Given the description of an element on the screen output the (x, y) to click on. 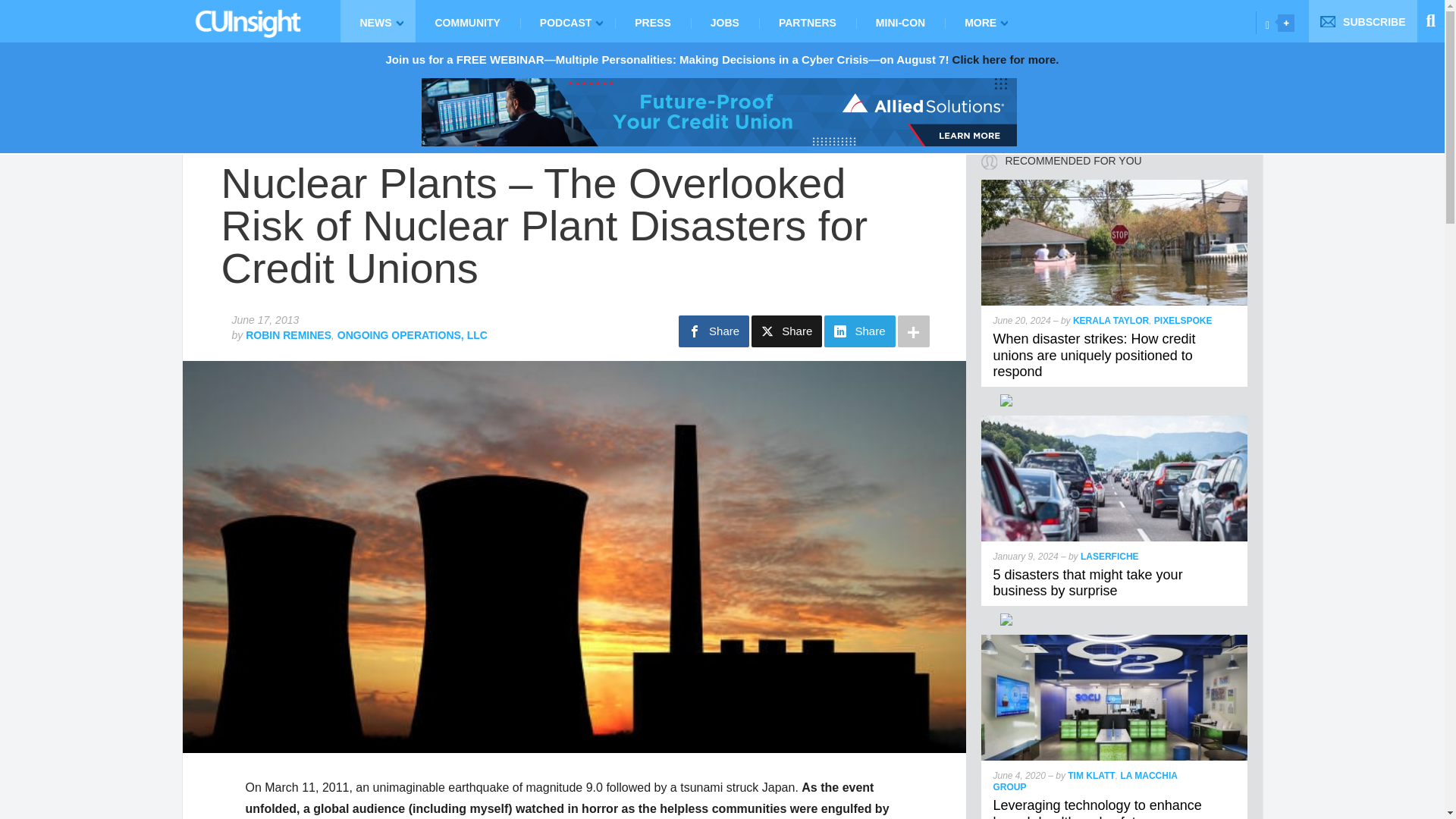
5 disasters that might take your business by surprise (1087, 582)
Opener (1286, 22)
5 disasters that might take your business by surprise (1114, 421)
NEWS (376, 21)
Leveraging technology to enhance branch health and safety (1114, 640)
PRESS (652, 21)
PARTNERS (807, 21)
Leveraging technology to enhance branch health and safety (1097, 808)
